Given the description of an element on the screen output the (x, y) to click on. 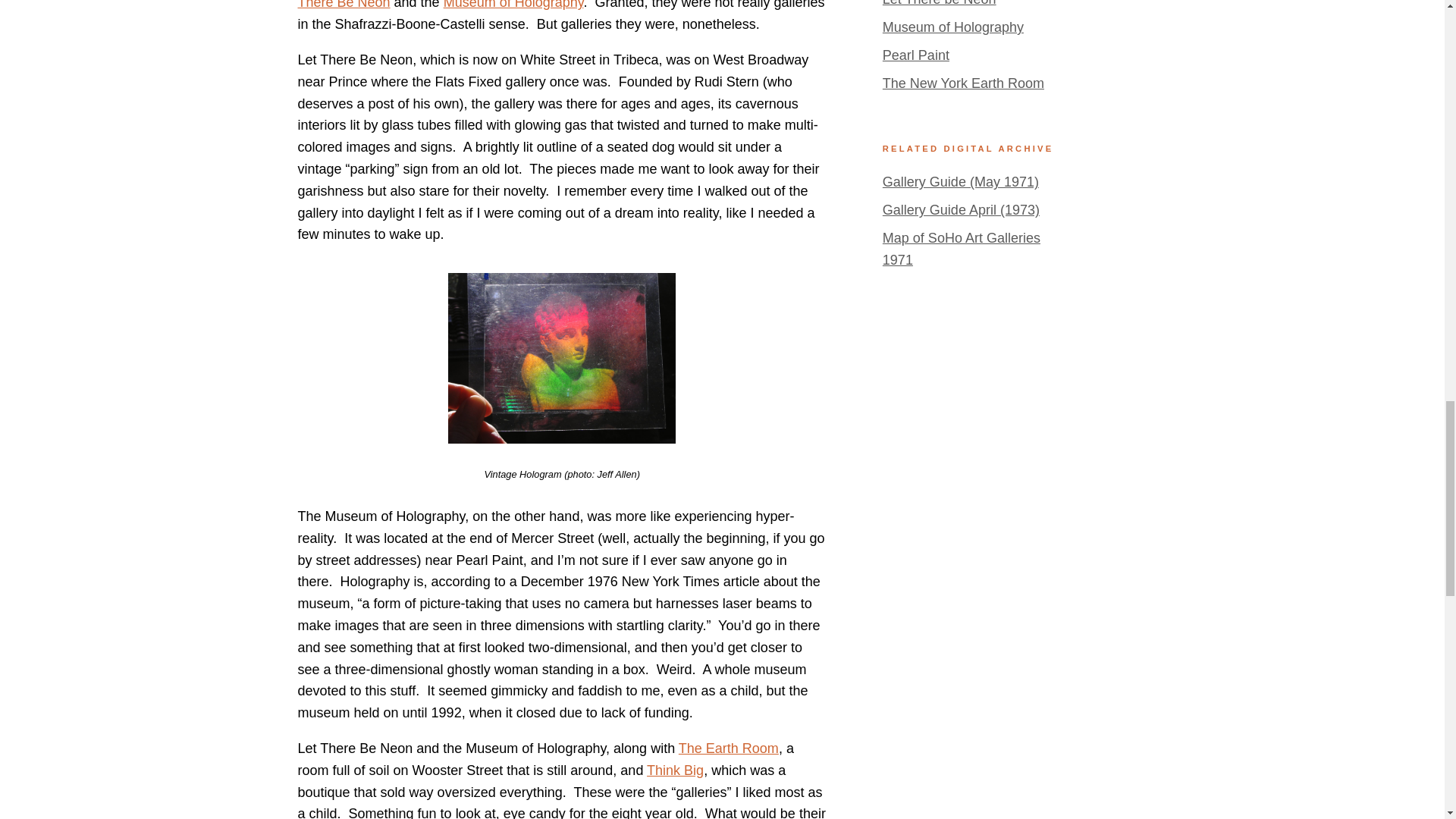
Let There be Neon (938, 3)
The New York Earth Room (962, 83)
Let There Be Neon (561, 5)
Museum of Holography (952, 27)
Pearl Paint (915, 55)
Think Big (674, 770)
Museum of Holography (513, 4)
The Earth Room (728, 748)
